Given the description of an element on the screen output the (x, y) to click on. 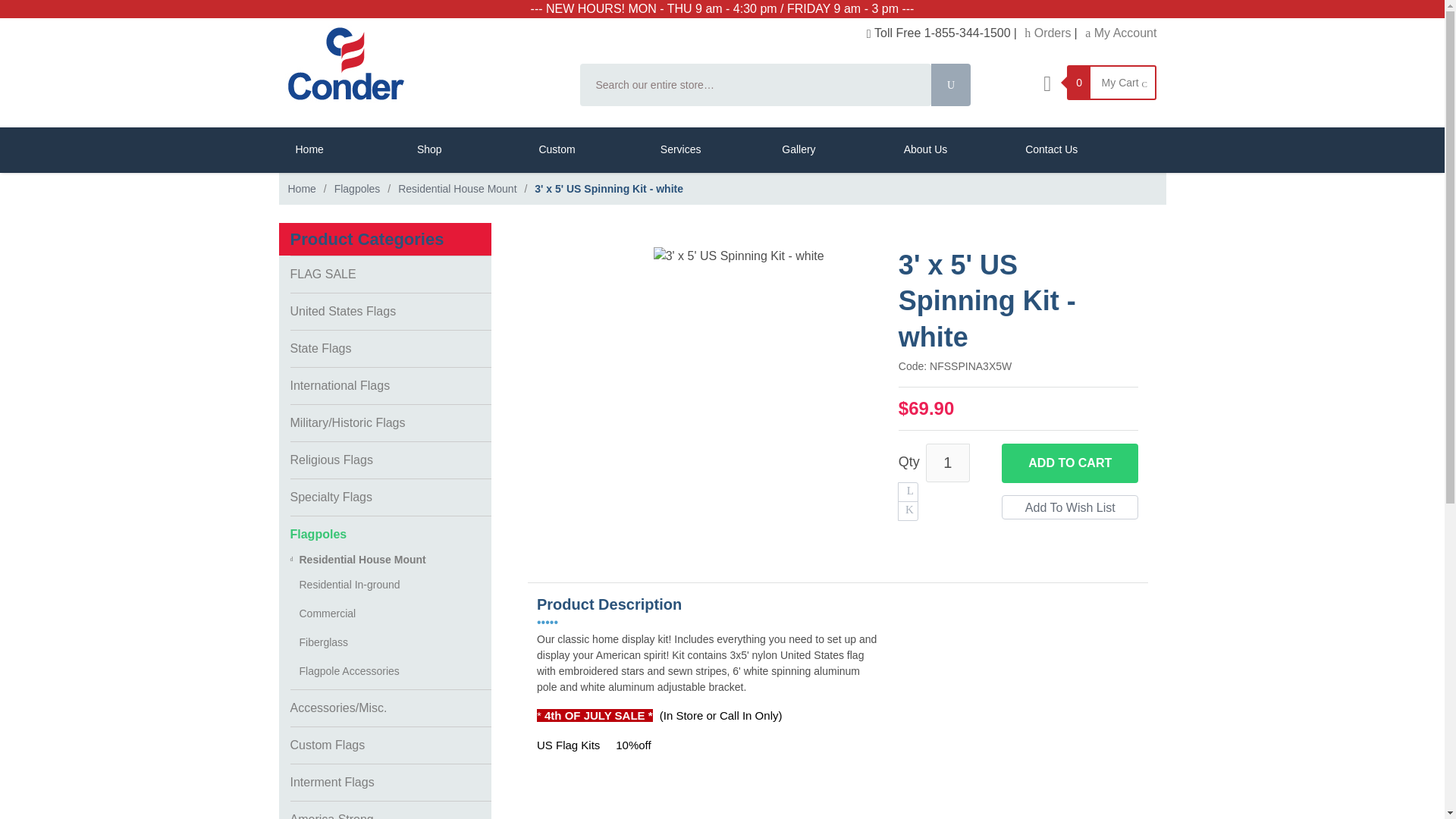
Conder Flag Company (420, 63)
Search (951, 84)
1 (947, 462)
Add To Wish List (1069, 507)
